Given the description of an element on the screen output the (x, y) to click on. 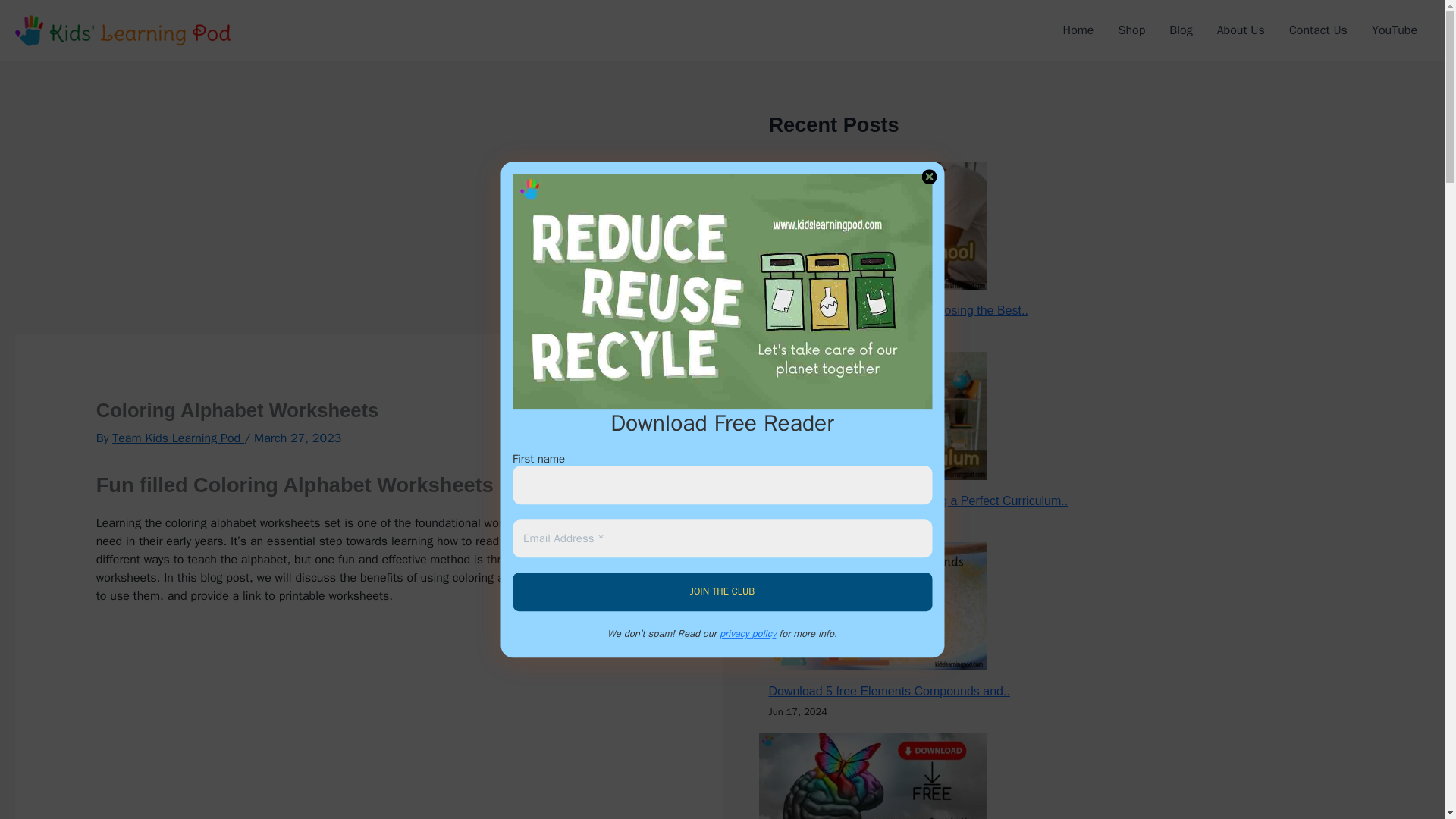
JOIN THE CLUB (721, 591)
Team Kids Learning Pod (178, 437)
JOIN THE CLUB (721, 591)
View all posts by Team Kids Learning Pod (178, 437)
First name (721, 485)
YouTube (1394, 30)
About Us (1240, 30)
Contact Us (1317, 30)
Advertisement (369, 721)
privacy policy (747, 633)
Home (1078, 30)
Email Address (721, 538)
